Given the description of an element on the screen output the (x, y) to click on. 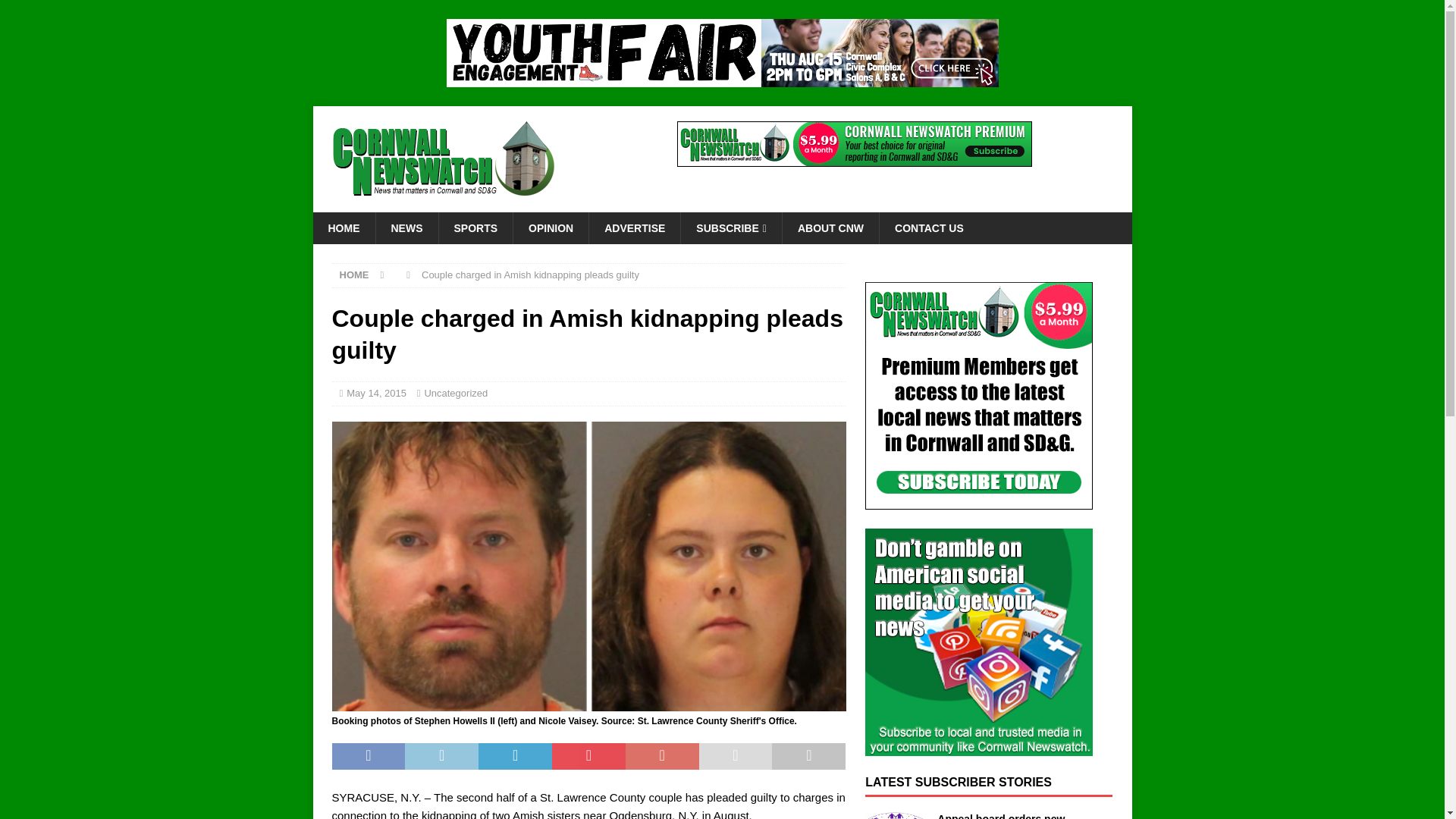
NEWS (406, 228)
OPINION (550, 228)
SUBSCRIBE (730, 228)
HOME (343, 228)
SPORTS (475, 228)
ADVERTISE (633, 228)
HOME (354, 274)
May 14, 2015 (376, 392)
CONTACT US (928, 228)
ABOUT CNW (830, 228)
